Given the description of an element on the screen output the (x, y) to click on. 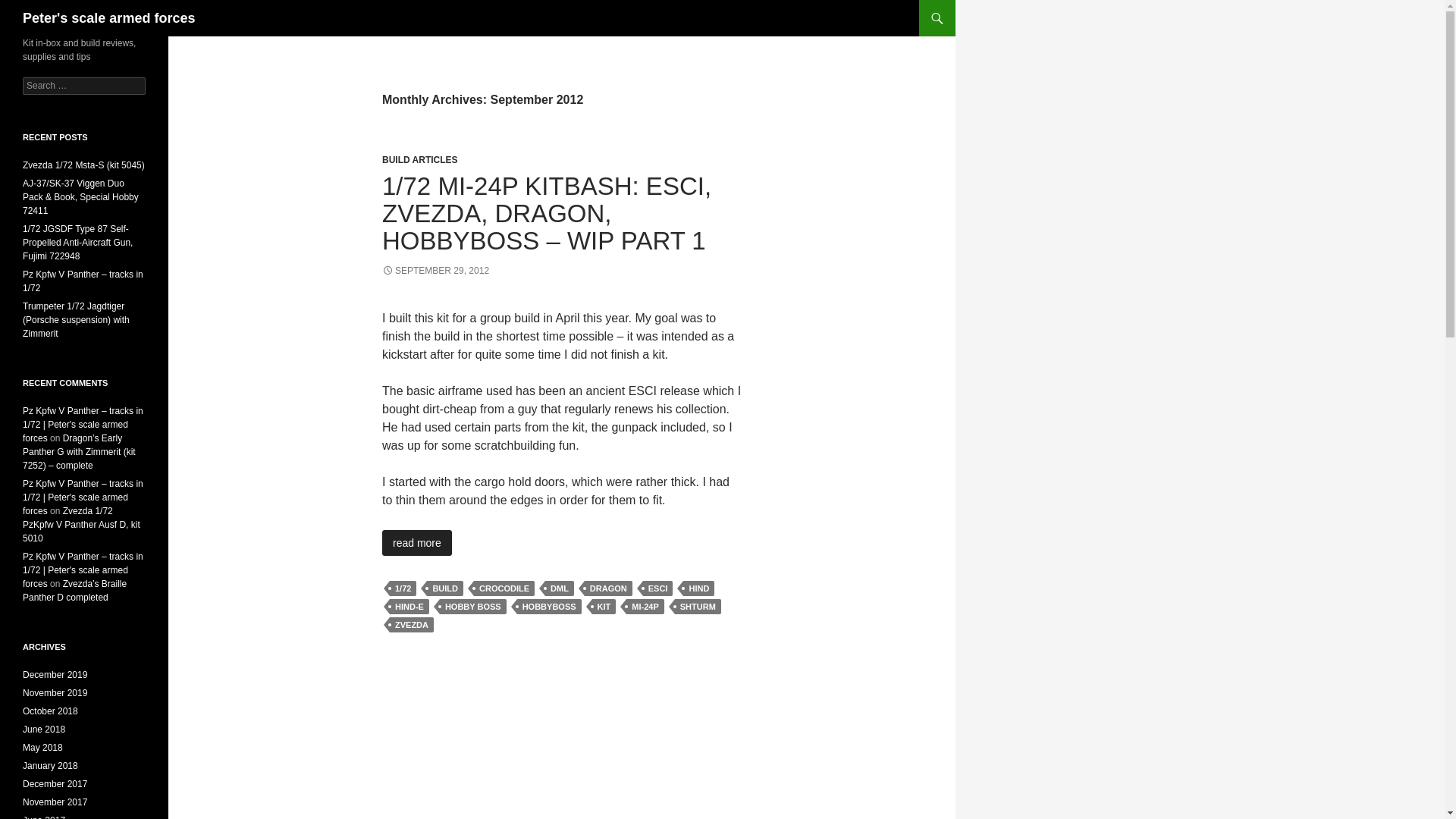
ZVEZDA (411, 624)
December 2019 (55, 674)
read more (416, 542)
HIND-E (409, 606)
Search (30, 8)
DML (558, 588)
BUILD ARTICLES (419, 159)
Peter's scale armed forces (109, 18)
